Given the description of an element on the screen output the (x, y) to click on. 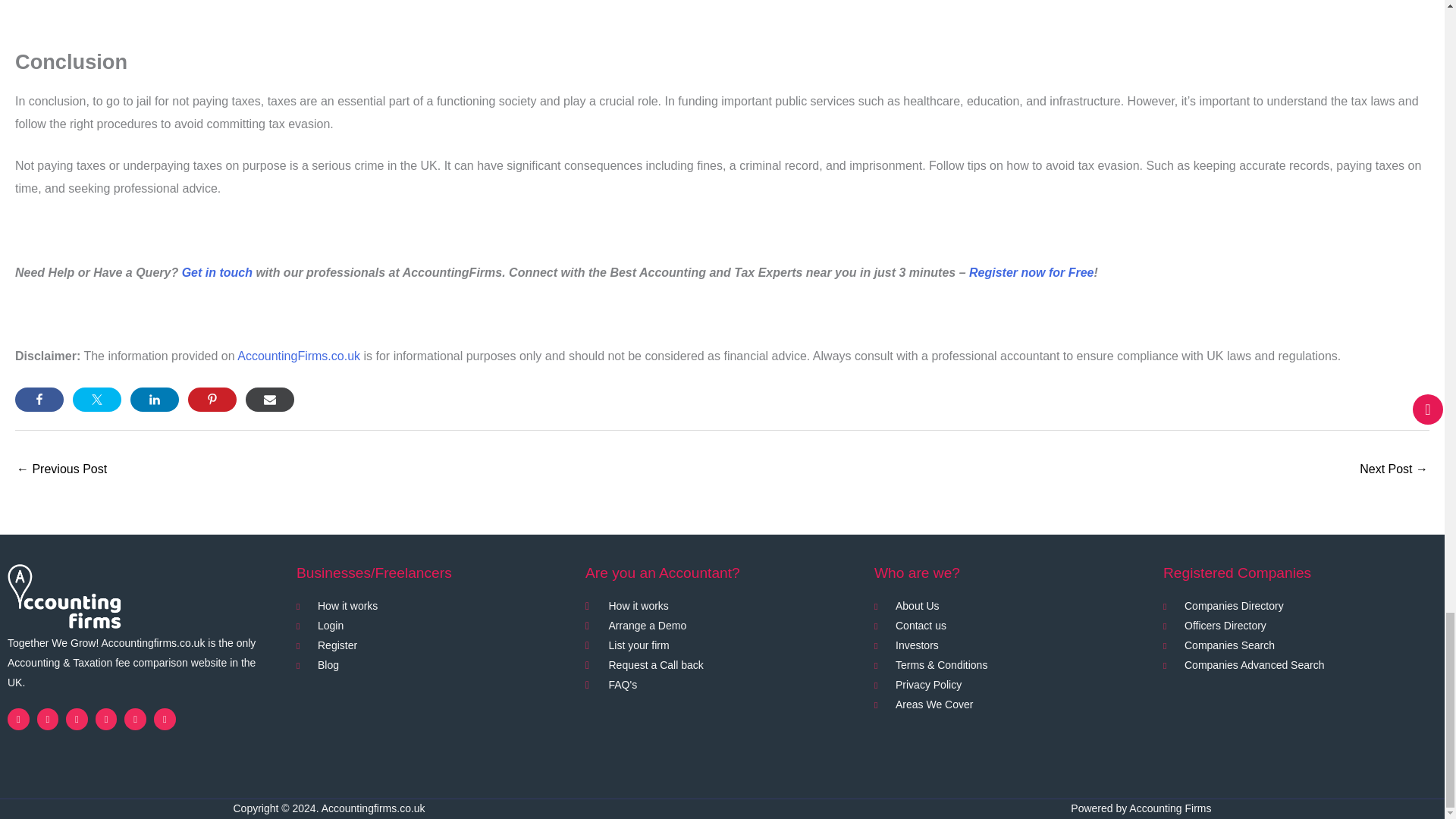
Share on LinkedIn (155, 399)
Whatsapp (135, 719)
How it works (433, 606)
Twitter (48, 719)
Share on Twitter (96, 399)
How to Add Pension Contributions to my Tax Return? (61, 470)
Pinterest (165, 719)
Register now for Free (1031, 272)
Share on Facebook (39, 399)
Linkedin (76, 719)
Facebook (18, 719)
Instagram (106, 719)
Share on Pinterest (211, 399)
Share via Email (270, 399)
Get in touch (216, 272)
